Given the description of an element on the screen output the (x, y) to click on. 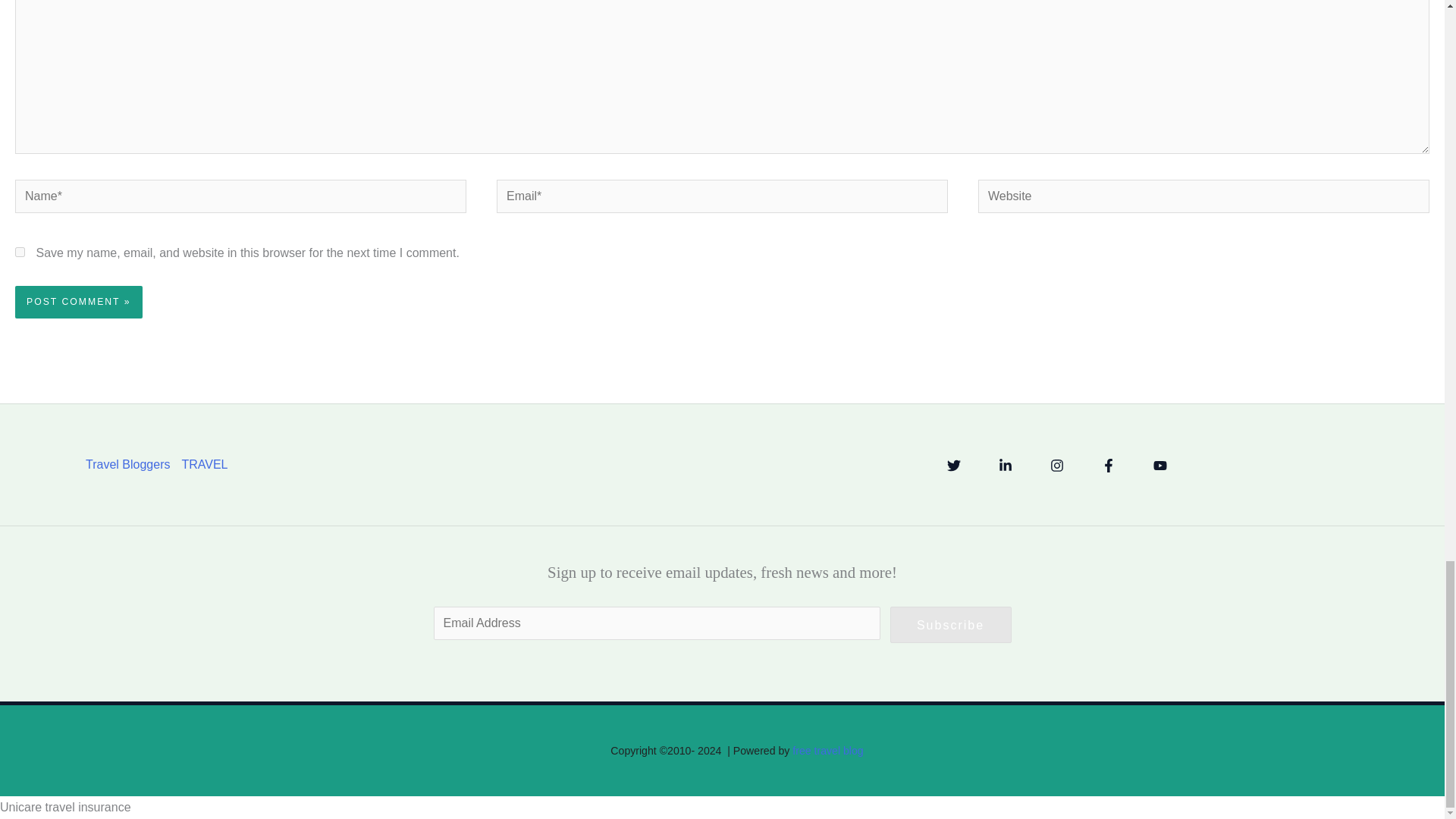
yes (19, 252)
